Given the description of an element on the screen output the (x, y) to click on. 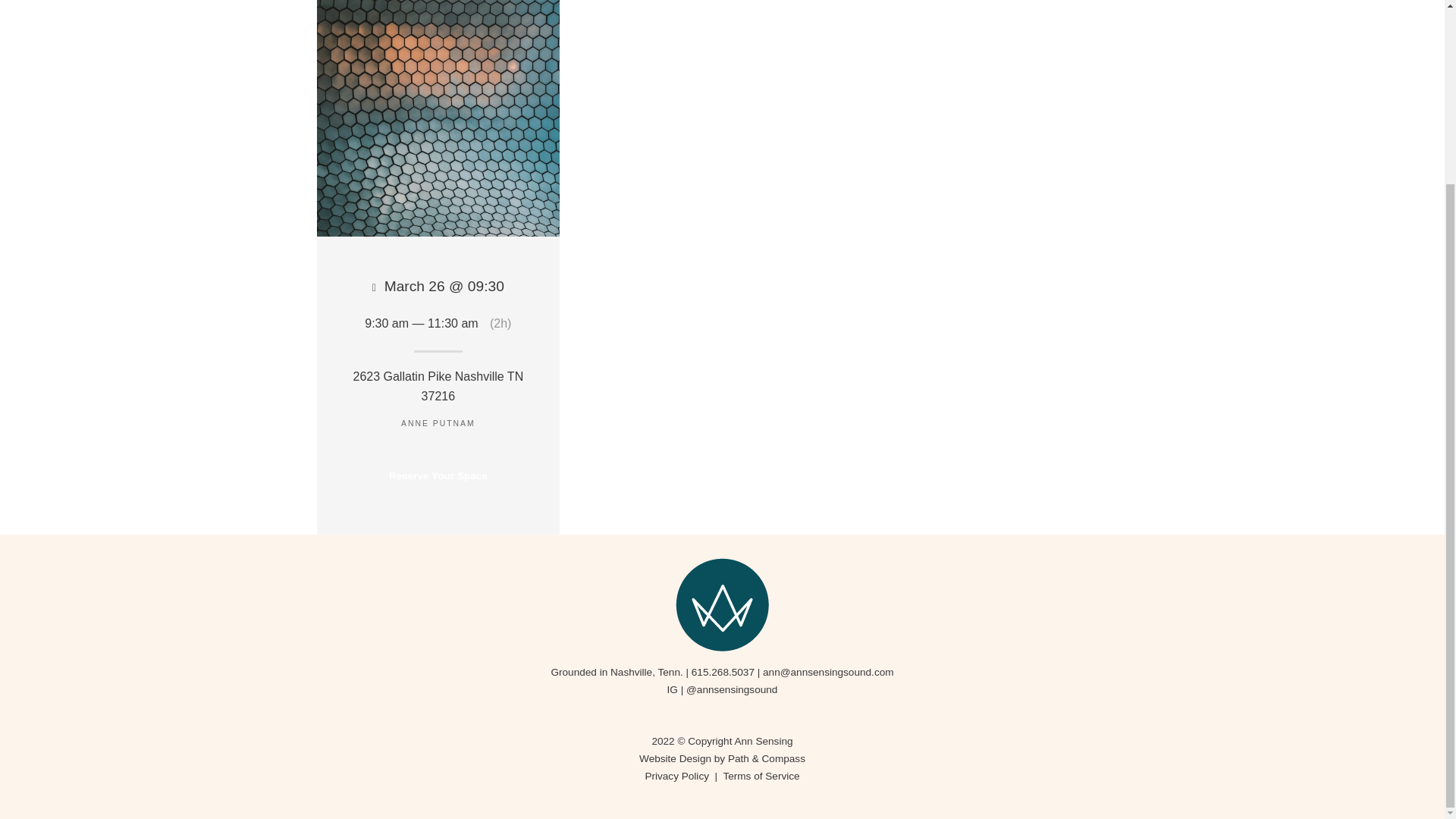
Terms of Service (760, 776)
Reserve Your Space (438, 475)
Privacy Policy (677, 776)
615.268.5037 (722, 672)
